Given the description of an element on the screen output the (x, y) to click on. 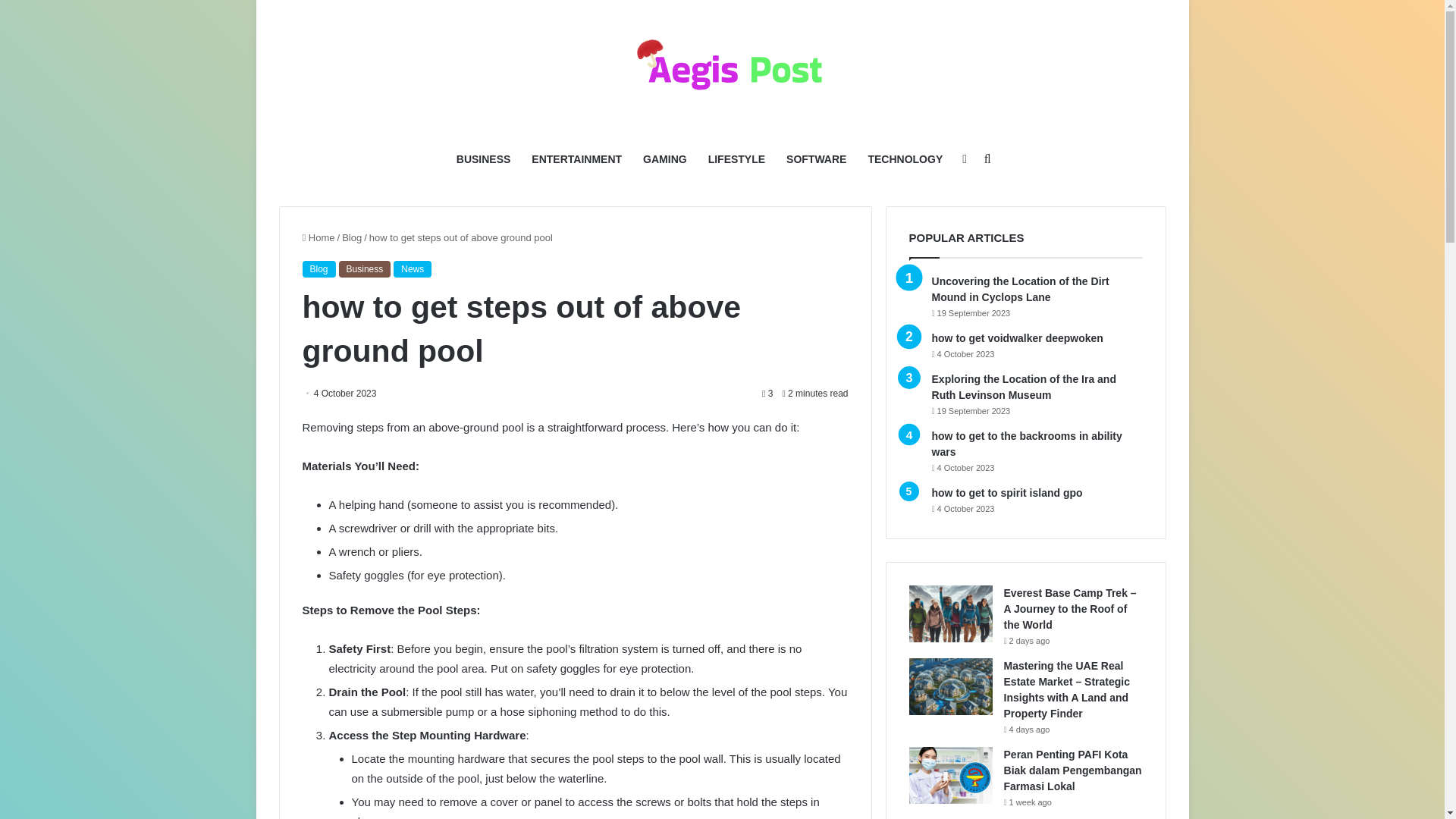
Blog (351, 237)
BUSINESS (483, 158)
LIFESTYLE (736, 158)
ENTERTAINMENT (576, 158)
SOFTWARE (816, 158)
GAMING (664, 158)
Aegis Post (721, 68)
Home (317, 237)
News (411, 269)
Blog (317, 269)
